Given the description of an element on the screen output the (x, y) to click on. 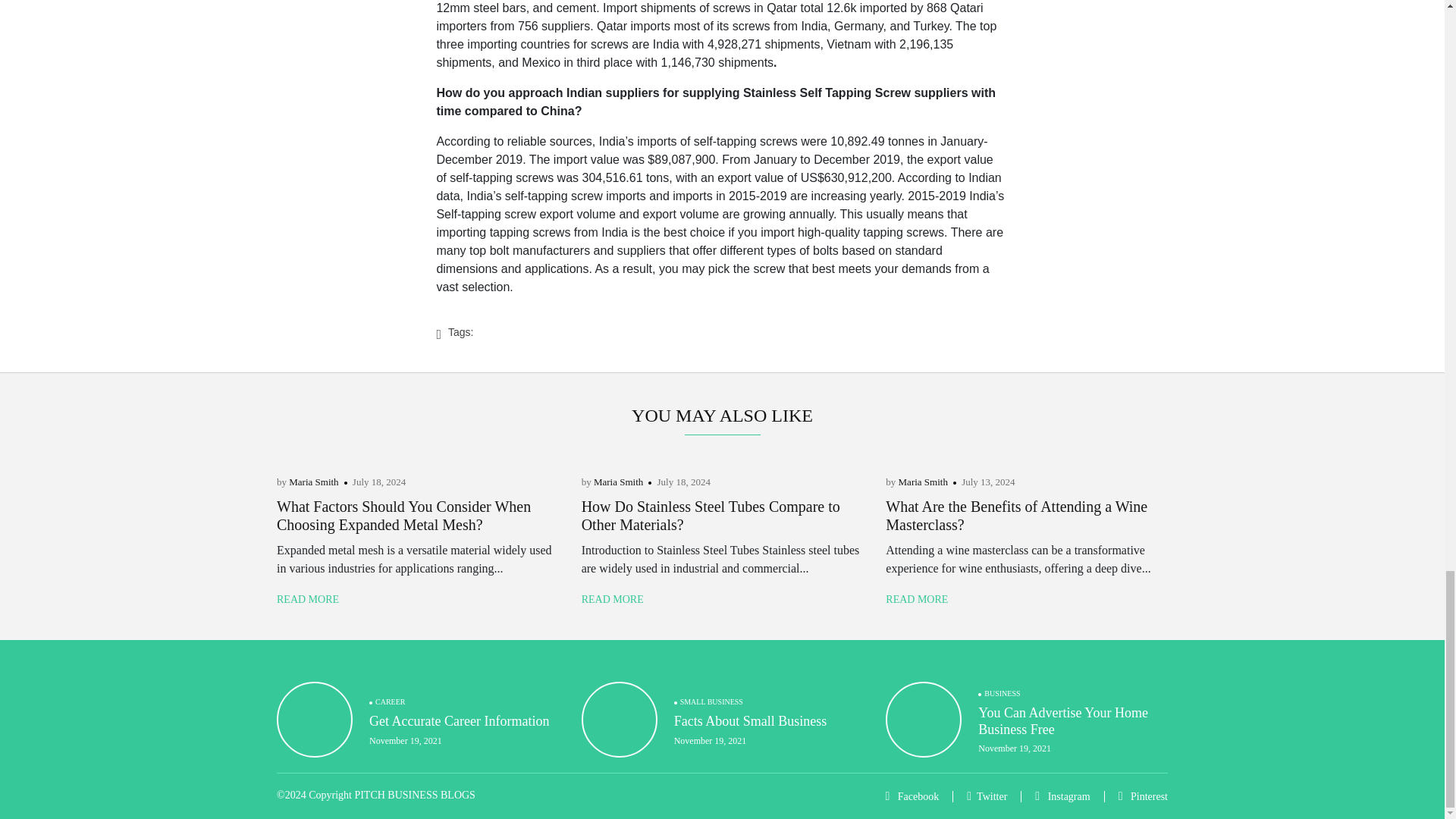
READ MORE (611, 599)
How Do Stainless Steel Tubes Compare to Other Materials? (710, 515)
READ MORE (307, 599)
What Are the Benefits of Attending a Wine Masterclass? (1016, 515)
How Do Stainless Steel Tubes Compare to Other Materials? (710, 515)
